Given the description of an element on the screen output the (x, y) to click on. 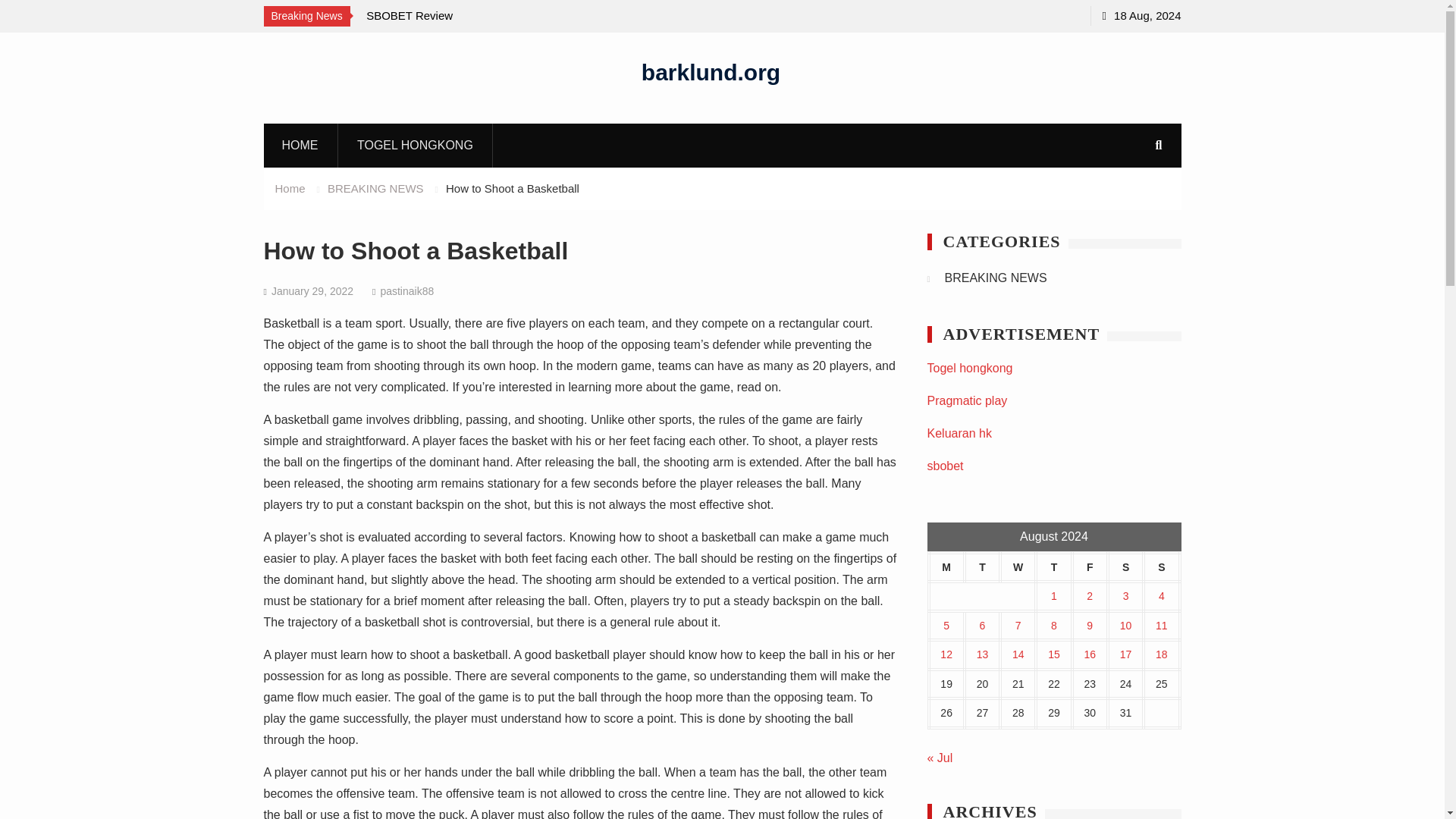
Wednesday (1017, 567)
BREAKING NEWS (995, 277)
January 29, 2022 (311, 291)
Togel hongkong (968, 367)
BREAKING NEWS (375, 187)
Home (289, 187)
Saturday (1125, 567)
Monday (945, 567)
Friday (1089, 567)
11 (1161, 625)
